Given the description of an element on the screen output the (x, y) to click on. 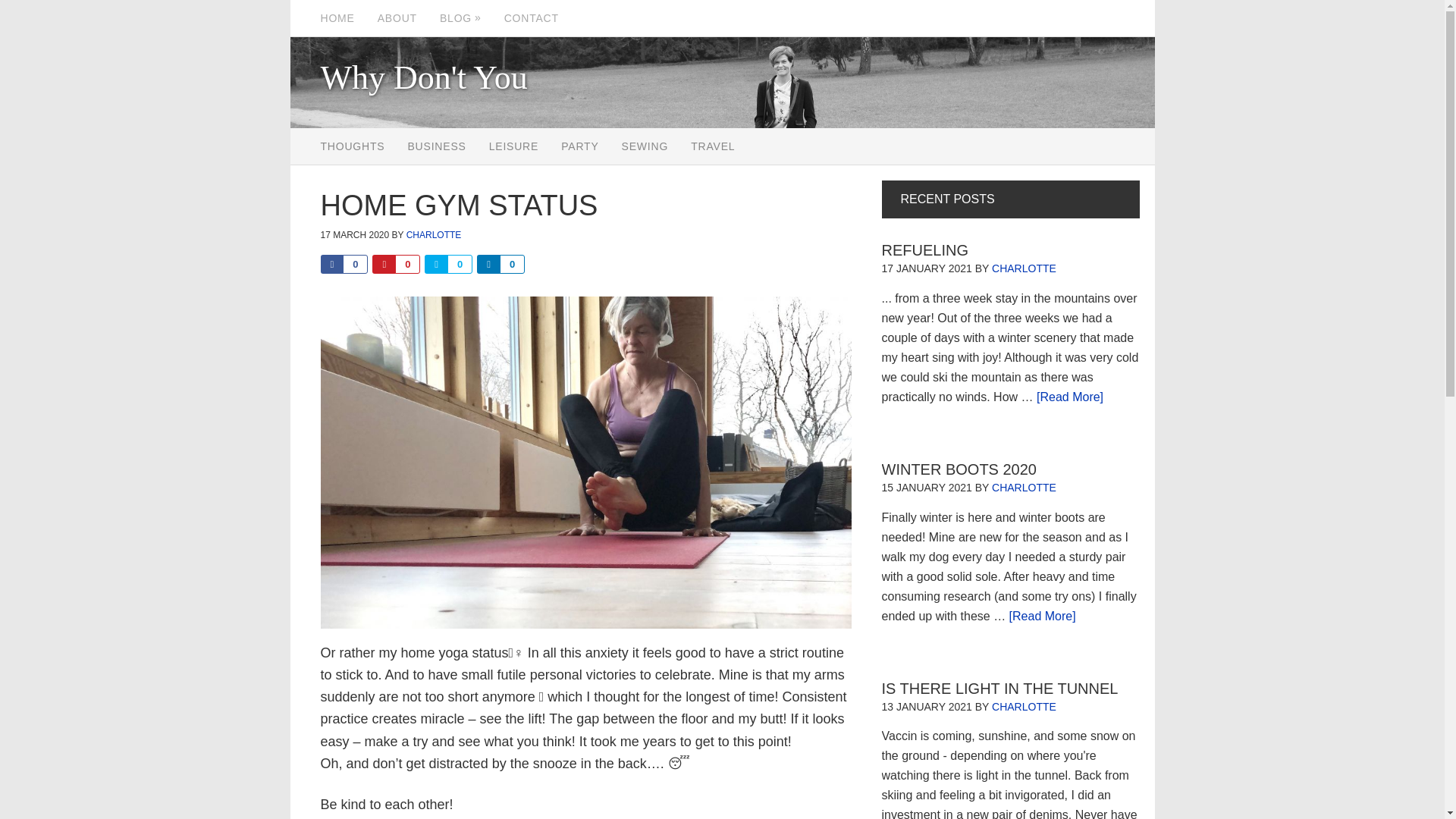
HOME (337, 18)
CHARLOTTE (433, 234)
WINTER BOOTS 2020 (958, 469)
CHARLOTTE (1024, 487)
CONTACT (531, 18)
0 (447, 263)
BUSINESS (436, 145)
Share on Pinterest (395, 263)
ABOUT (397, 18)
0 (499, 263)
CHARLOTTE (1024, 706)
THOUGHTS (352, 145)
IS THERE LIGHT IN THE TUNNEL (999, 687)
LEISURE (513, 145)
CHARLOTTE (1024, 268)
